Given the description of an element on the screen output the (x, y) to click on. 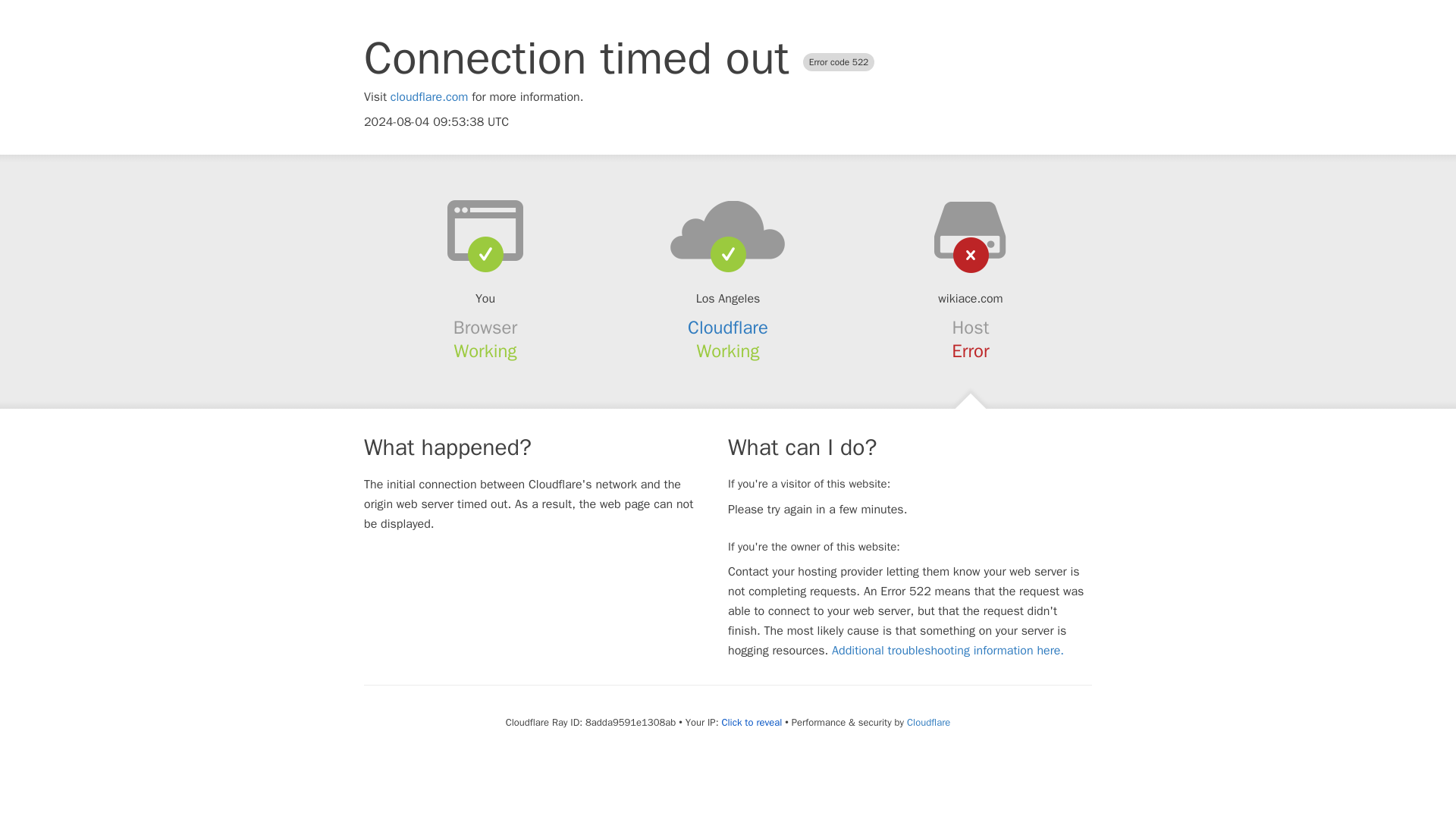
Cloudflare (928, 721)
Click to reveal (750, 722)
Cloudflare (727, 327)
cloudflare.com (429, 96)
Additional troubleshooting information here. (947, 650)
